Given the description of an element on the screen output the (x, y) to click on. 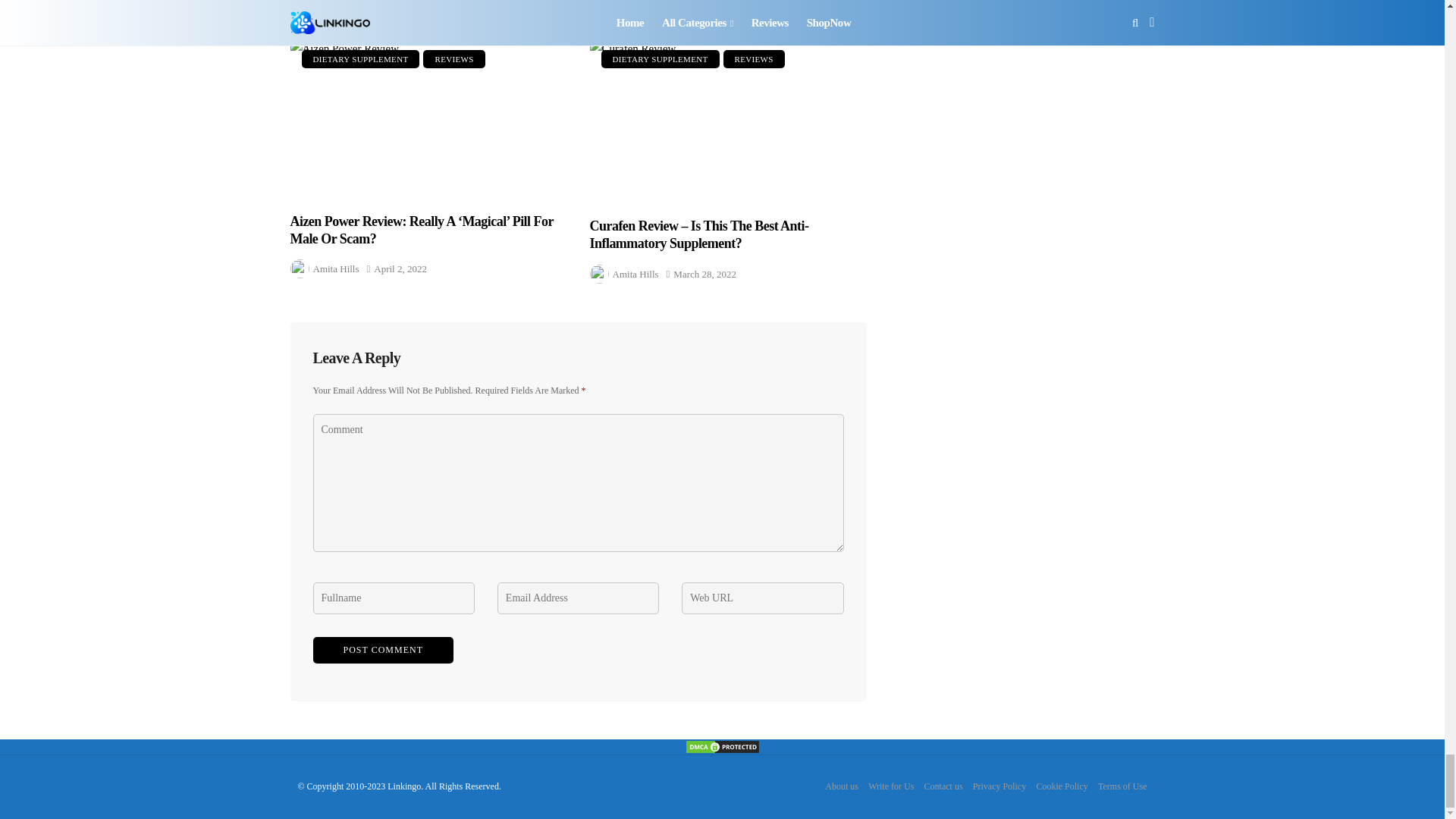
Posts by Linkingo (331, 7)
Post Comment (382, 650)
Posts by Amita Hills (635, 7)
Posts by Amita Hills (335, 268)
